Given the description of an element on the screen output the (x, y) to click on. 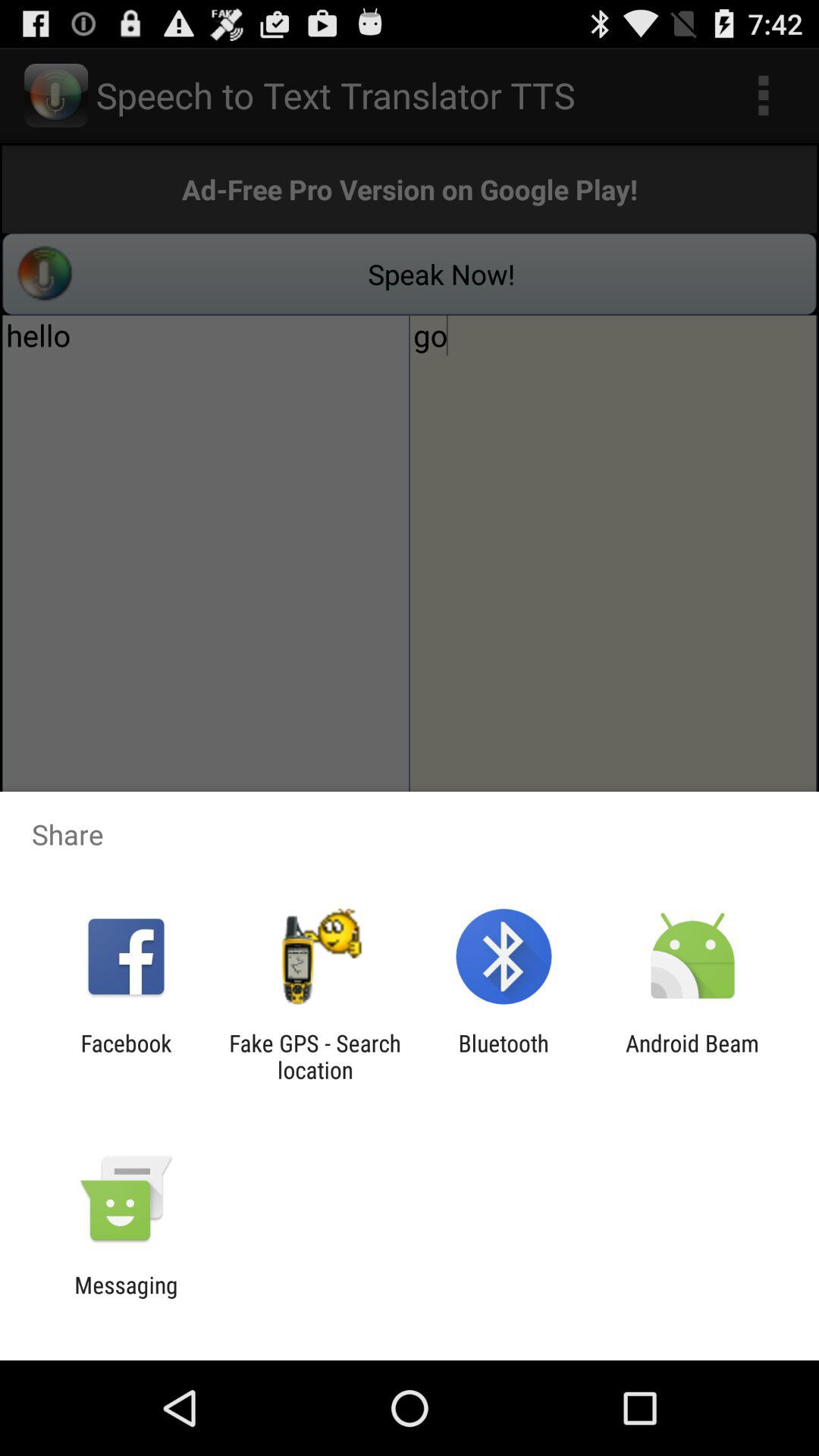
turn on item to the left of android beam app (503, 1056)
